Given the description of an element on the screen output the (x, y) to click on. 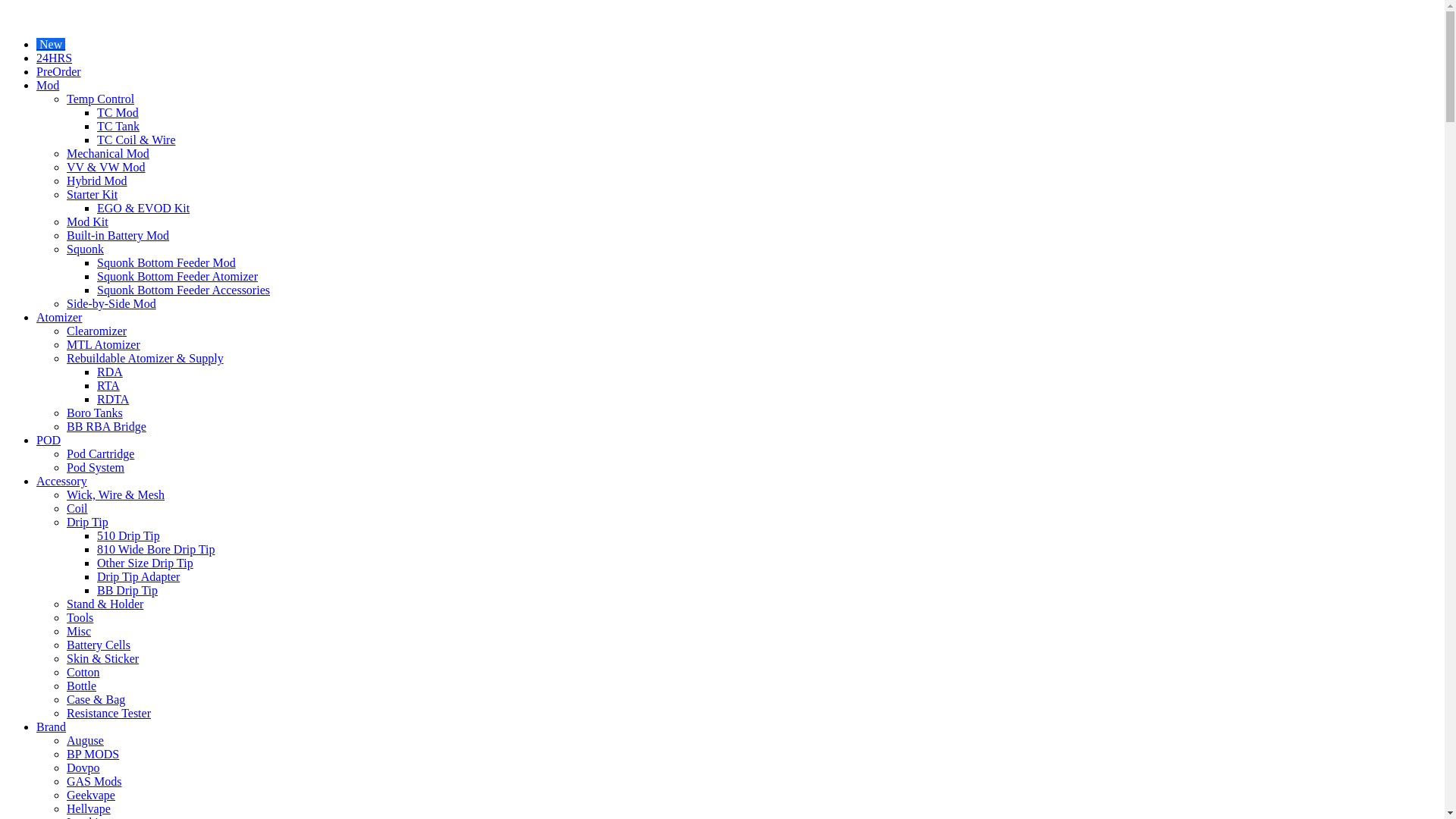
Squonk Bottom Feeder Accessories Element type: text (183, 289)
Misc Element type: text (78, 630)
Clearomizer Element type: text (96, 330)
BB Drip Tip Element type: text (127, 589)
Hybrid Mod Element type: text (96, 180)
Mod Element type: text (47, 84)
Case & Bag Element type: text (95, 699)
Squonk Bottom Feeder Mod Element type: text (166, 262)
Bottle Element type: text (81, 685)
Cotton Element type: text (83, 671)
Built-in Battery Mod Element type: text (117, 235)
TC Coil & Wire Element type: text (136, 139)
RDA Element type: text (109, 371)
MTL Atomizer Element type: text (103, 344)
Auguse Element type: text (84, 740)
Pod System Element type: text (95, 467)
TC Tank Element type: text (118, 125)
Resistance Tester Element type: text (108, 712)
Mechanical Mod Element type: text (107, 153)
Geekvape Element type: text (90, 794)
Accessory Element type: text (61, 480)
Mod Kit Element type: text (87, 221)
Battery Cells Element type: text (98, 644)
Tools Element type: text (79, 617)
Coil Element type: text (76, 508)
Wick, Wire & Mesh Element type: text (115, 494)
Squonk Element type: text (84, 248)
Rebuildable Atomizer & Supply Element type: text (144, 357)
24HRS Element type: text (54, 57)
Hellvape Element type: text (88, 808)
Side-by-Side Mod Element type: text (111, 303)
PreOrder Element type: text (58, 71)
EGO & EVOD Kit Element type: text (143, 207)
POD Element type: text (48, 439)
 New  Element type: text (50, 43)
Skin & Sticker Element type: text (102, 658)
Brand Element type: text (50, 726)
Stand & Holder Element type: text (104, 603)
Boro Tanks Element type: text (94, 412)
510 Drip Tip Element type: text (128, 535)
Pod Cartridge Element type: text (100, 453)
Dovpo Element type: text (83, 767)
Squonk Bottom Feeder Atomizer Element type: text (177, 275)
Drip Tip Element type: text (87, 521)
RTA Element type: text (108, 385)
TC Mod Element type: text (117, 112)
GAS Mods Element type: text (93, 781)
Drip Tip Adapter Element type: text (138, 576)
Starter Kit Element type: text (91, 194)
Other Size Drip Tip Element type: text (145, 562)
VV & VW Mod Element type: text (105, 166)
BB RBA Bridge Element type: text (106, 426)
810 Wide Bore Drip Tip Element type: text (156, 548)
BP MODS Element type: text (92, 753)
Temp Control Element type: text (100, 98)
Atomizer Element type: text (58, 316)
RDTA Element type: text (112, 398)
